Given the description of an element on the screen output the (x, y) to click on. 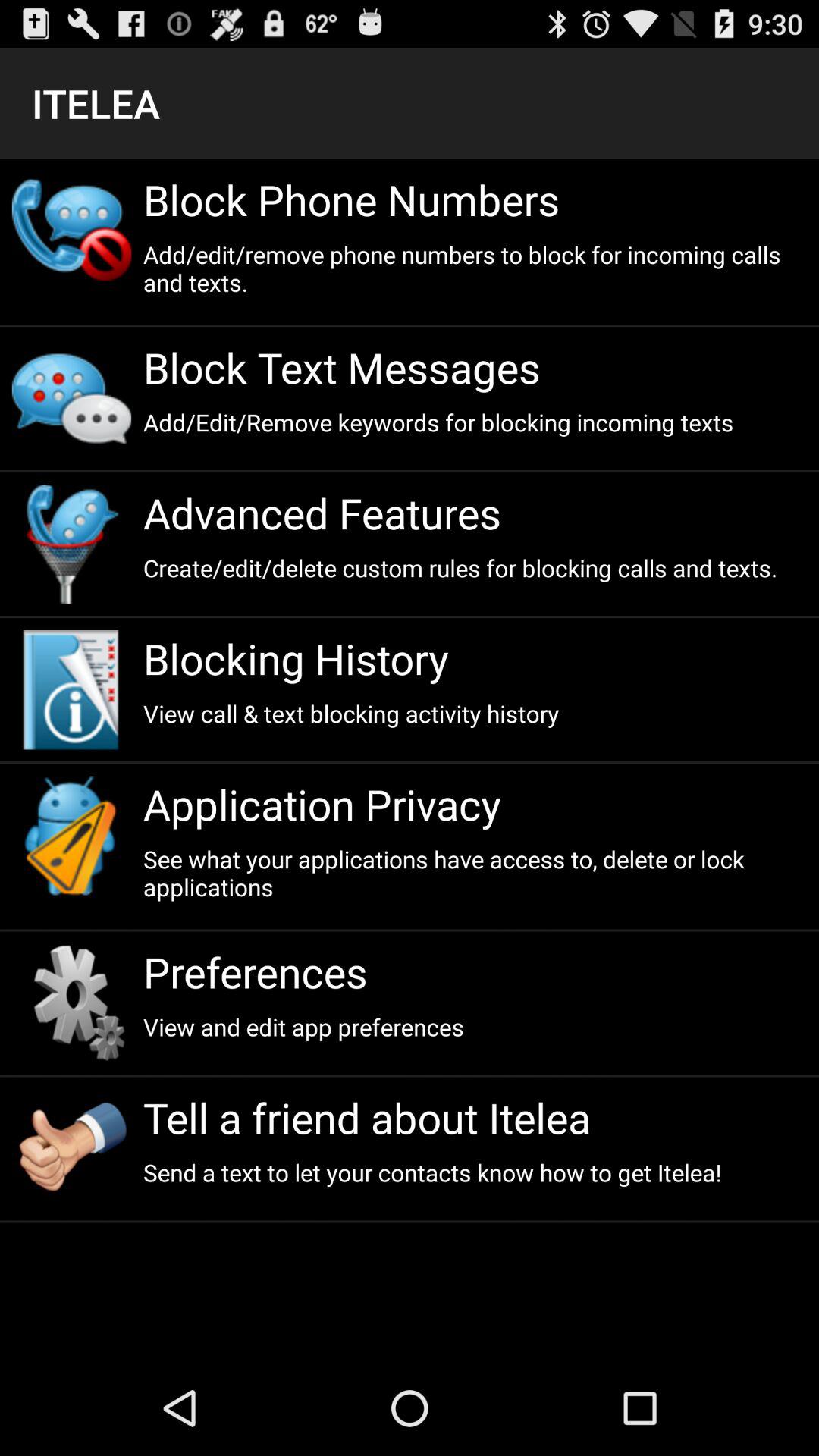
turn off the advanced features item (475, 512)
